Given the description of an element on the screen output the (x, y) to click on. 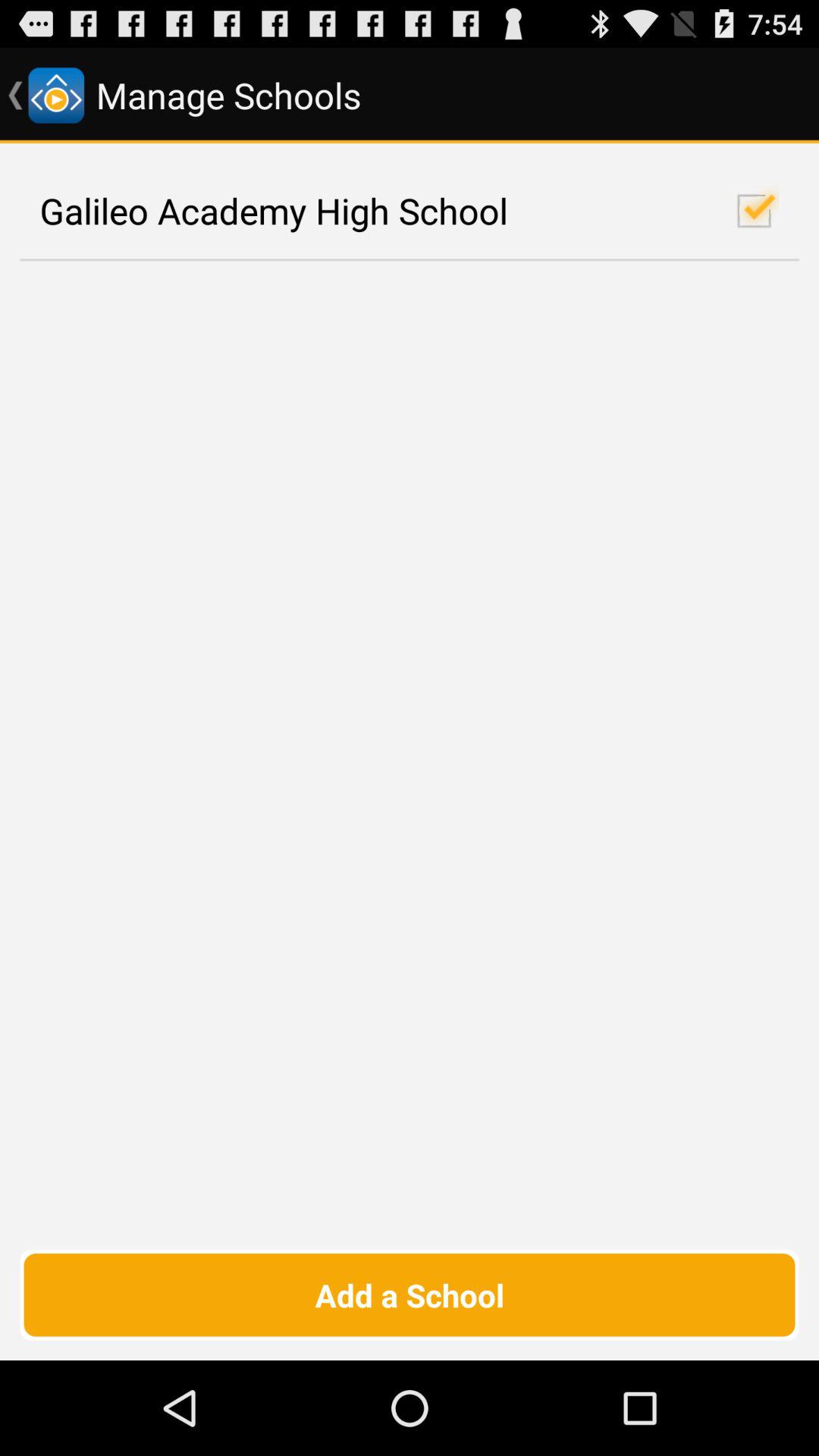
select the add a school item (409, 1294)
